Given the description of an element on the screen output the (x, y) to click on. 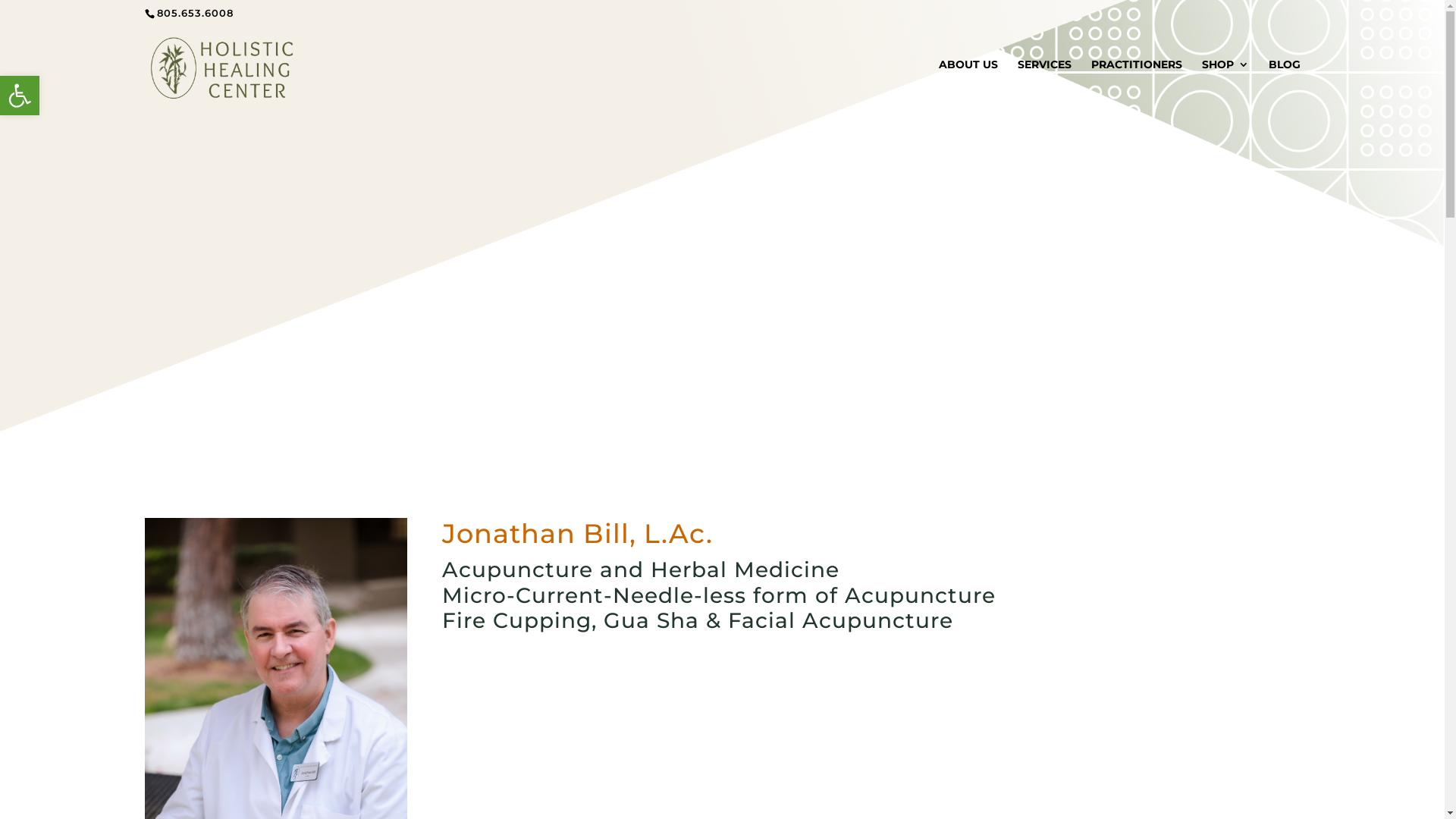
PRACTITIONERS Element type: text (1135, 84)
SHOP Element type: text (1224, 84)
Open toolbar
Accessibility Tools Element type: text (19, 95)
SERVICES Element type: text (1044, 84)
ABOUT US Element type: text (967, 84)
BLOG Element type: text (1283, 84)
